Given the description of an element on the screen output the (x, y) to click on. 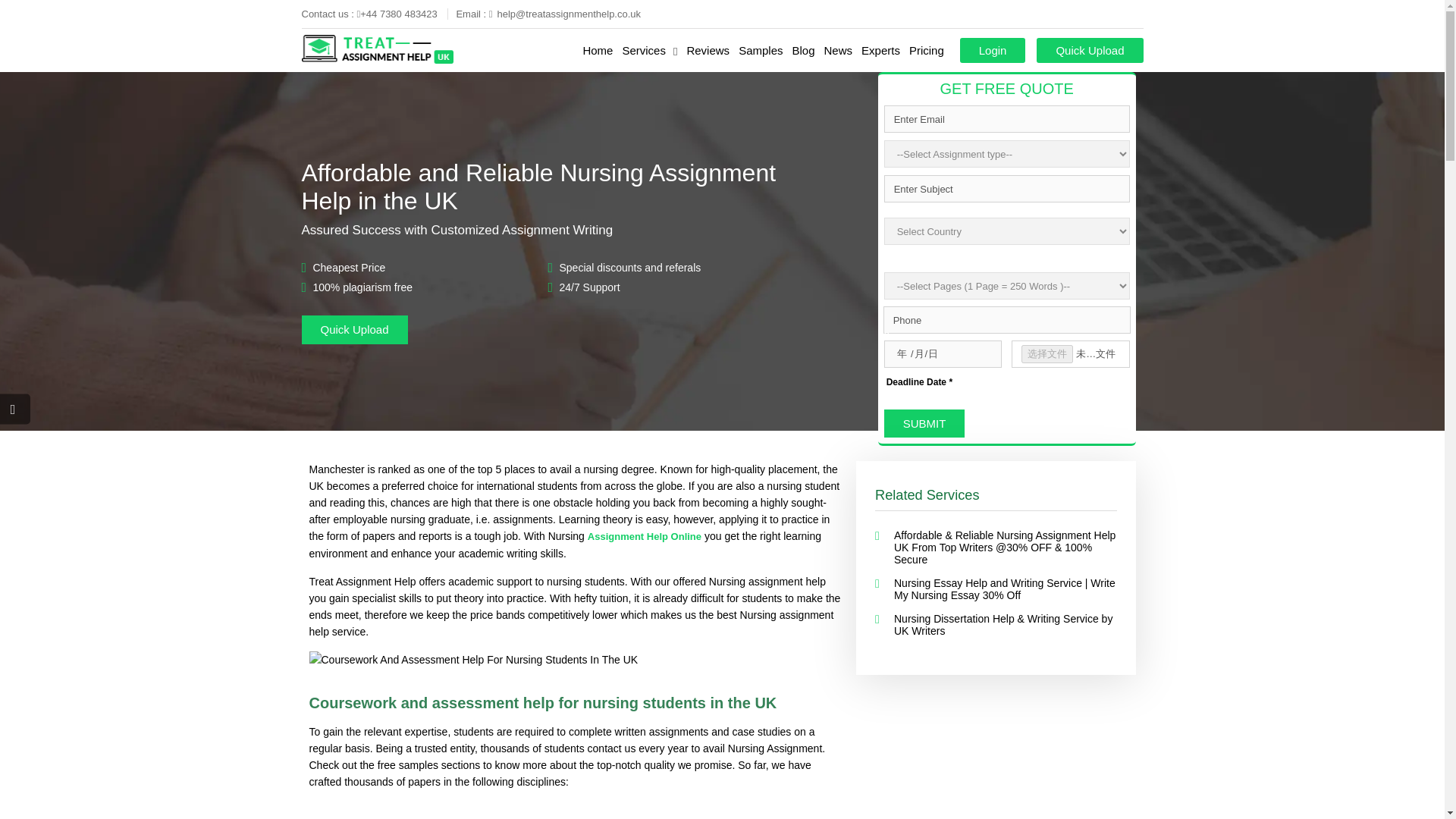
Submit (924, 423)
Home (597, 50)
Select Country (918, 258)
